Given the description of an element on the screen output the (x, y) to click on. 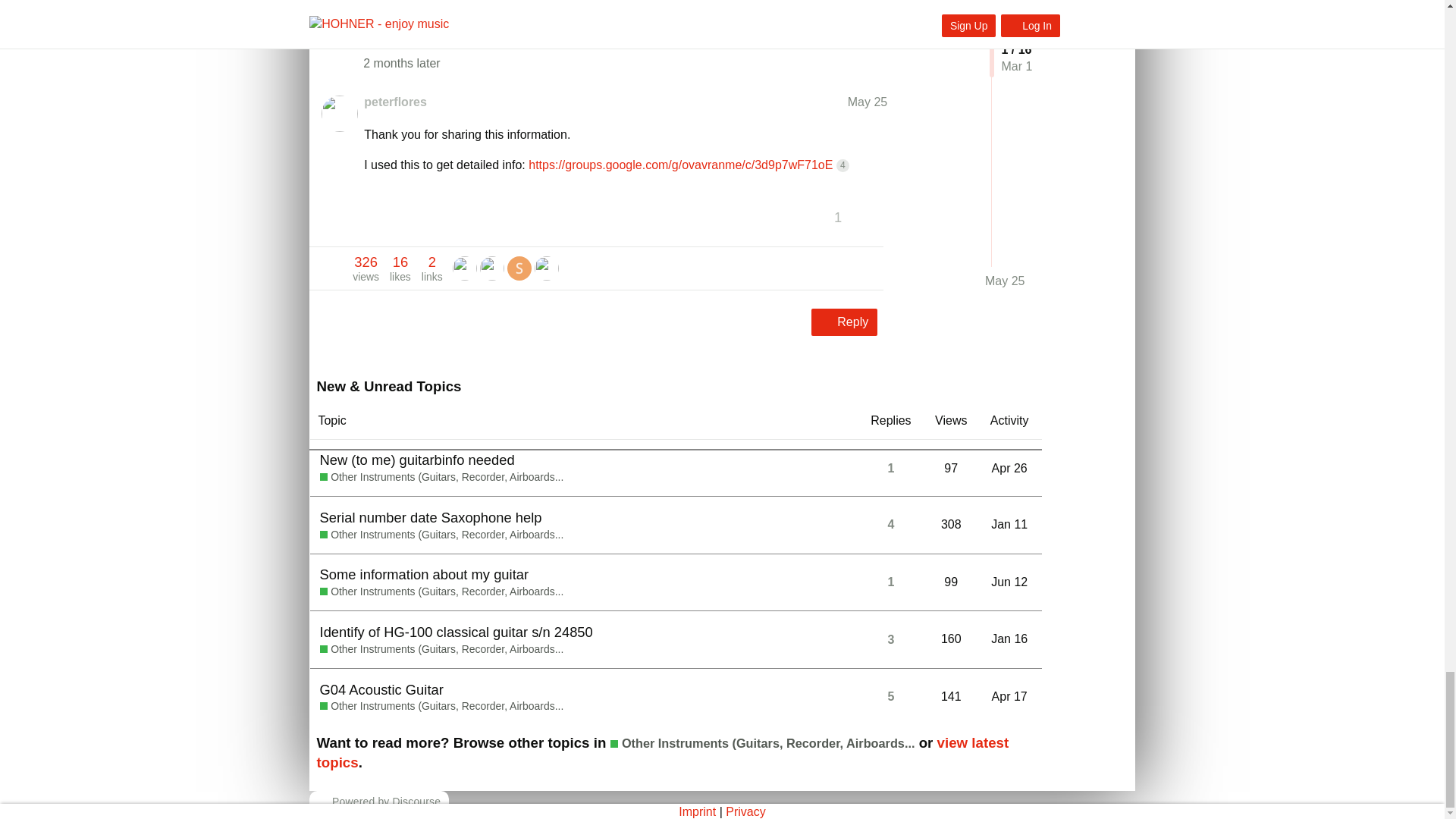
philw (366, 268)
Peter Flores (491, 268)
philw (546, 268)
SteveHG731 (491, 267)
peterflores (518, 267)
SteveBaker (546, 267)
Steve (464, 267)
Steve Baker (518, 268)
